Given the description of an element on the screen output the (x, y) to click on. 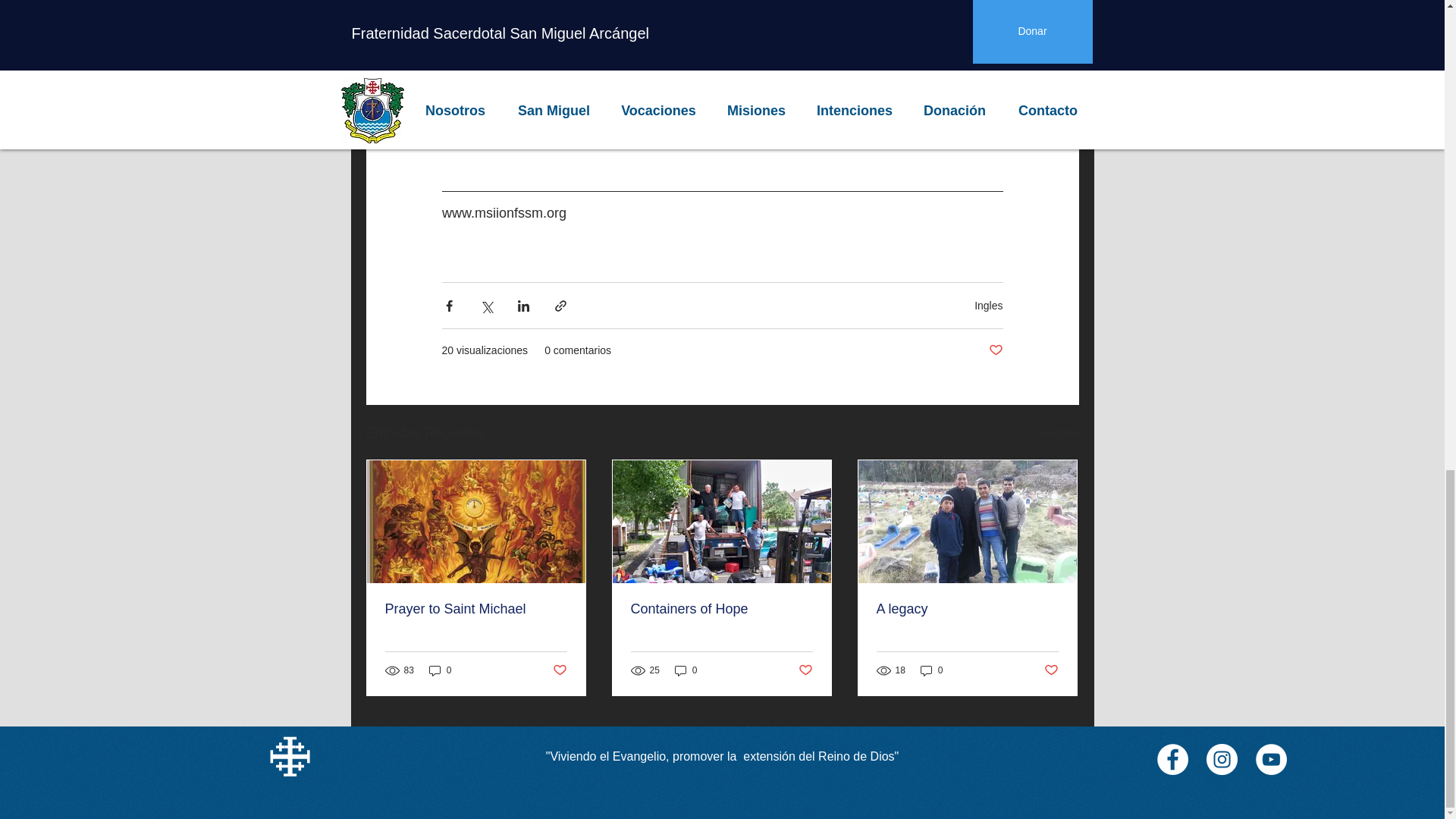
Entrada no marcada como Me Gusta (995, 350)
Ver todo (1058, 433)
0 (685, 670)
Entrada no marcada como Me Gusta (558, 669)
A legacy (967, 609)
Ingles (988, 305)
0 (931, 670)
Entrada no marcada como Me Gusta (804, 669)
Containers of Hope (721, 609)
Entrada no marcada como Me Gusta (1050, 669)
